Given the description of an element on the screen output the (x, y) to click on. 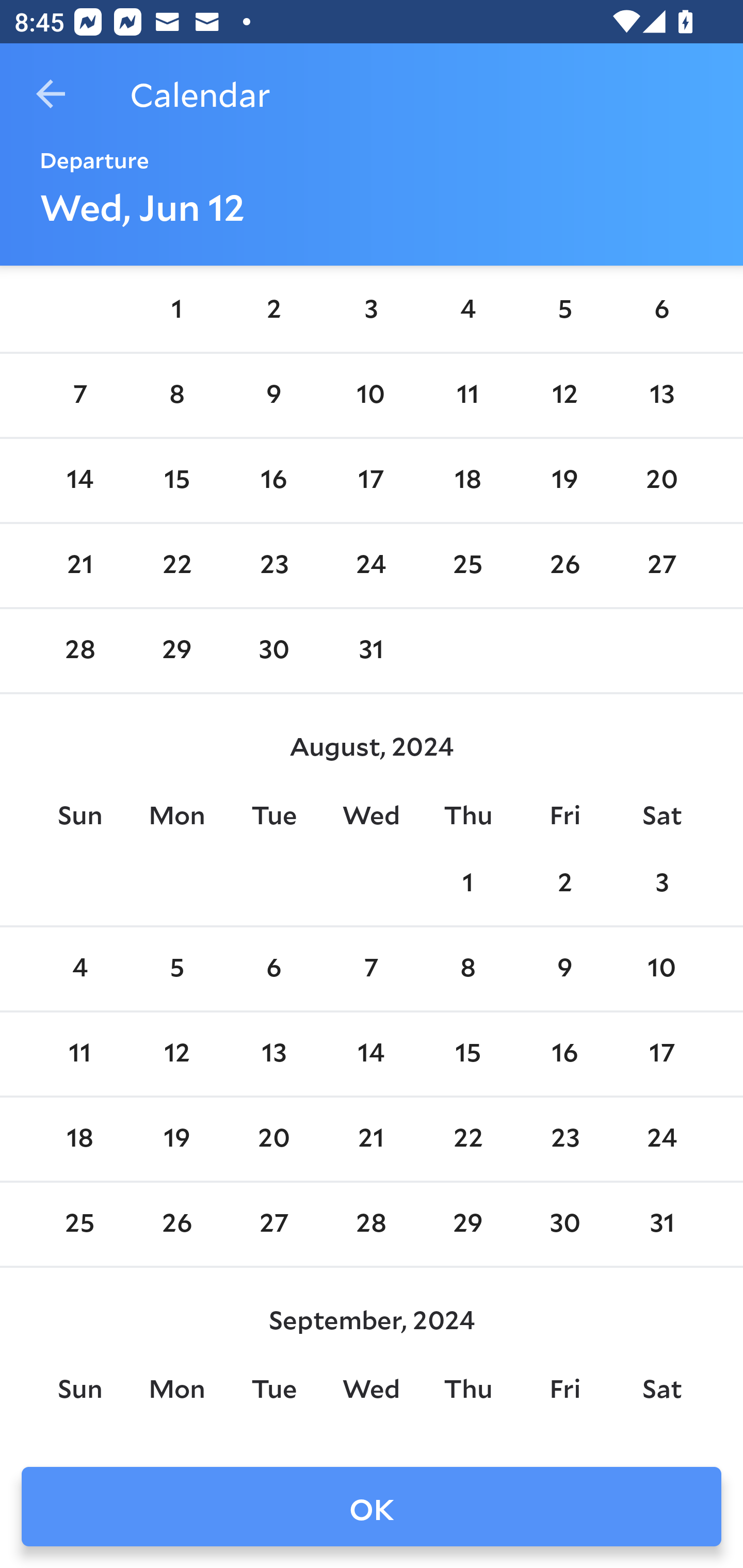
Navigate up (50, 93)
1 (177, 310)
2 (273, 310)
3 (371, 310)
4 (467, 310)
5 (565, 310)
6 (661, 310)
7 (79, 395)
8 (177, 395)
9 (273, 395)
10 (371, 395)
11 (467, 395)
12 (565, 395)
13 (661, 395)
14 (79, 481)
15 (177, 481)
16 (273, 481)
17 (371, 481)
18 (467, 481)
19 (565, 481)
20 (661, 481)
21 (79, 565)
22 (177, 565)
23 (273, 565)
24 (371, 565)
25 (467, 565)
26 (565, 565)
27 (661, 565)
28 (79, 650)
29 (177, 650)
30 (273, 650)
31 (371, 650)
1 (467, 884)
2 (565, 884)
3 (661, 884)
4 (79, 968)
5 (177, 968)
6 (273, 968)
7 (371, 968)
8 (467, 968)
9 (565, 968)
10 (661, 968)
11 (79, 1053)
12 (177, 1053)
13 (273, 1053)
14 (371, 1053)
15 (467, 1053)
16 (565, 1053)
17 (661, 1053)
18 (79, 1139)
19 (177, 1139)
20 (273, 1139)
21 (371, 1139)
22 (467, 1139)
23 (565, 1139)
24 (661, 1139)
25 (79, 1224)
26 (177, 1224)
27 (273, 1224)
28 (371, 1224)
29 (467, 1224)
30 (565, 1224)
31 (661, 1224)
OK (371, 1506)
